Given the description of an element on the screen output the (x, y) to click on. 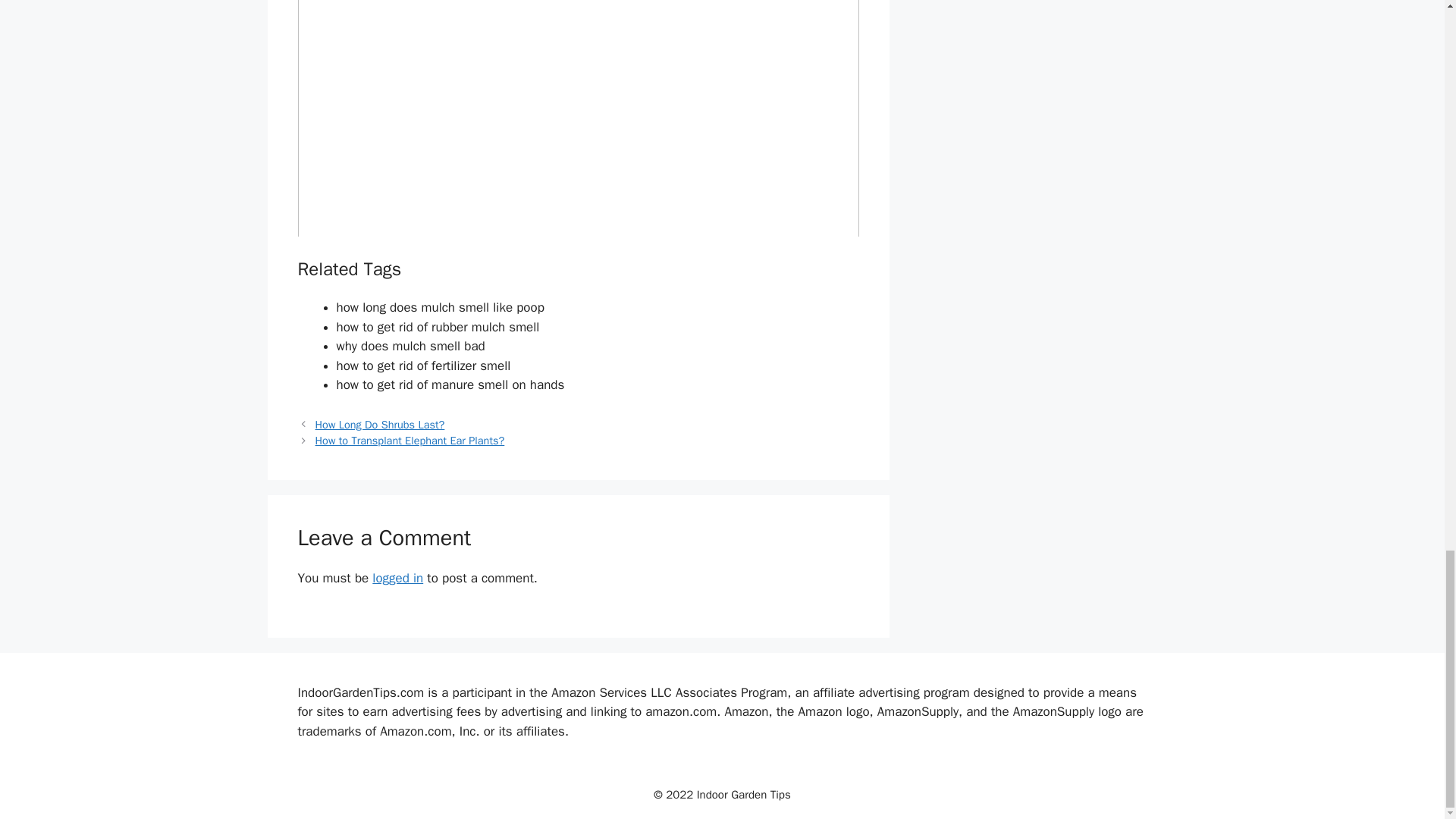
How Long Do Shrubs Last? (380, 424)
logged in (397, 578)
How to Transplant Elephant Ear Plants? (410, 440)
